Given the description of an element on the screen output the (x, y) to click on. 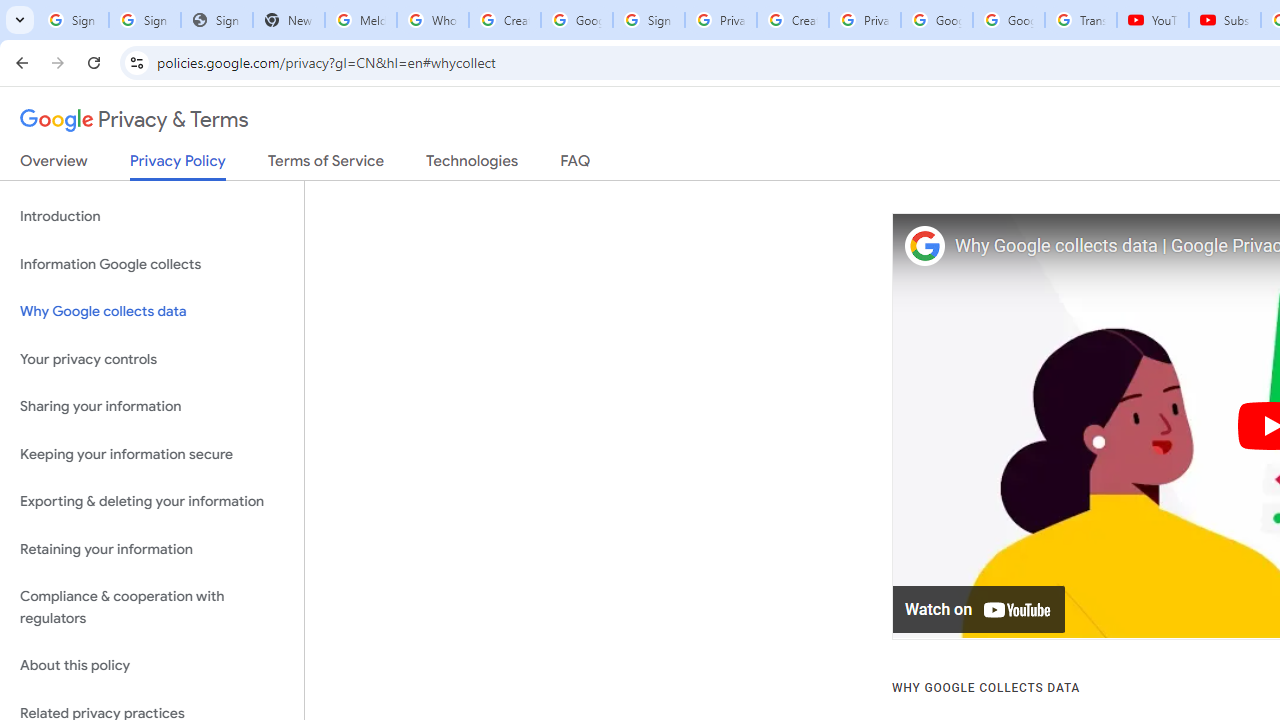
About this policy (152, 666)
Keeping your information secure (152, 453)
Sharing your information (152, 407)
Photo image of Google (924, 246)
New Tab (289, 20)
Create your Google Account (792, 20)
Exporting & deleting your information (152, 502)
Why Google collects data (152, 312)
